Given the description of an element on the screen output the (x, y) to click on. 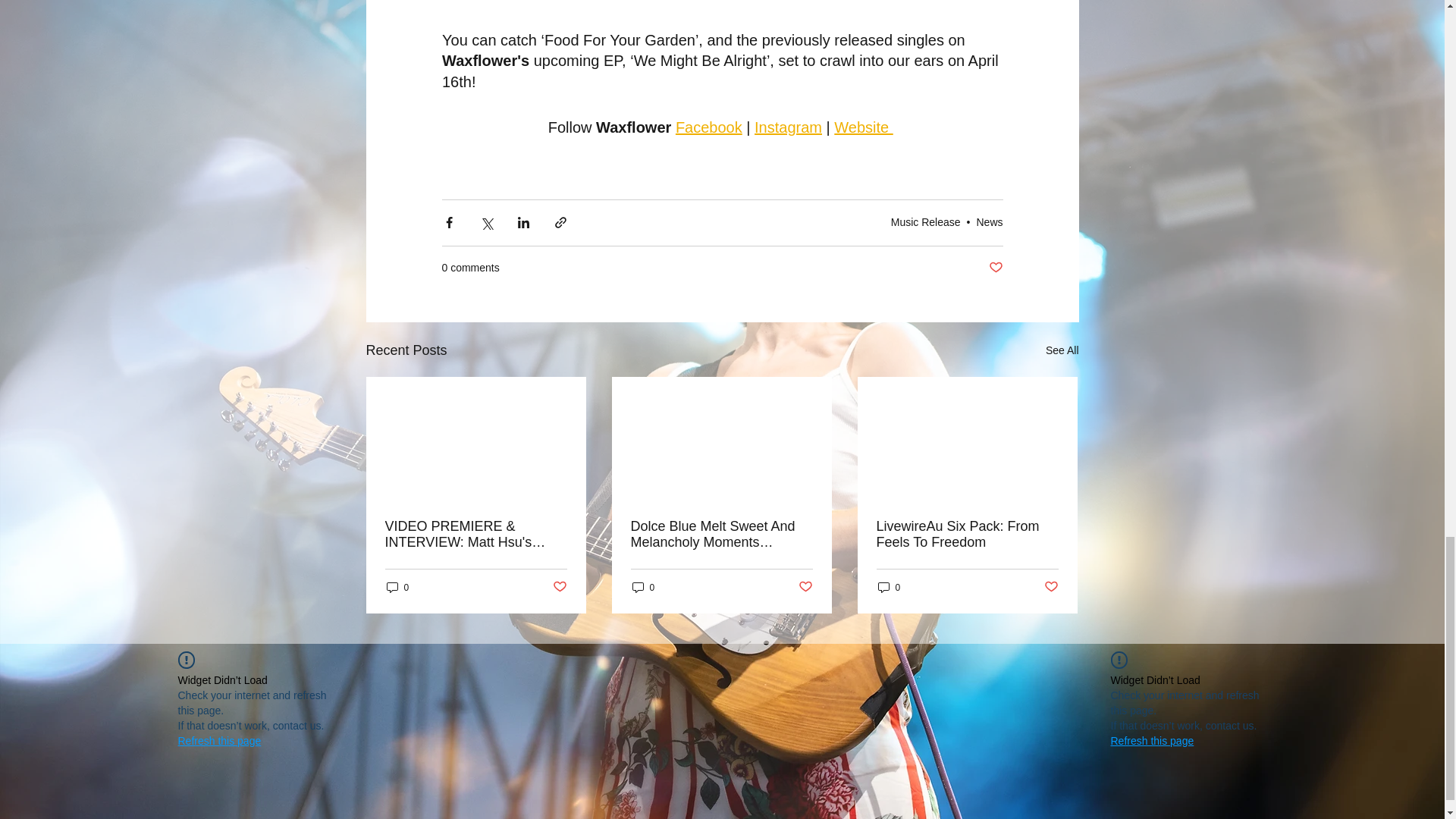
Dolce Blue Melt Sweet And Melancholy Moments Together (721, 534)
Facebook (708, 126)
Music Release (925, 222)
0 (889, 586)
Post not marked as liked (995, 268)
Post not marked as liked (1050, 587)
0 (643, 586)
Instagram (788, 126)
0 (397, 586)
See All (1061, 350)
Refresh this page (218, 740)
News (989, 222)
Post not marked as liked (804, 587)
Website  (863, 126)
